Given the description of an element on the screen output the (x, y) to click on. 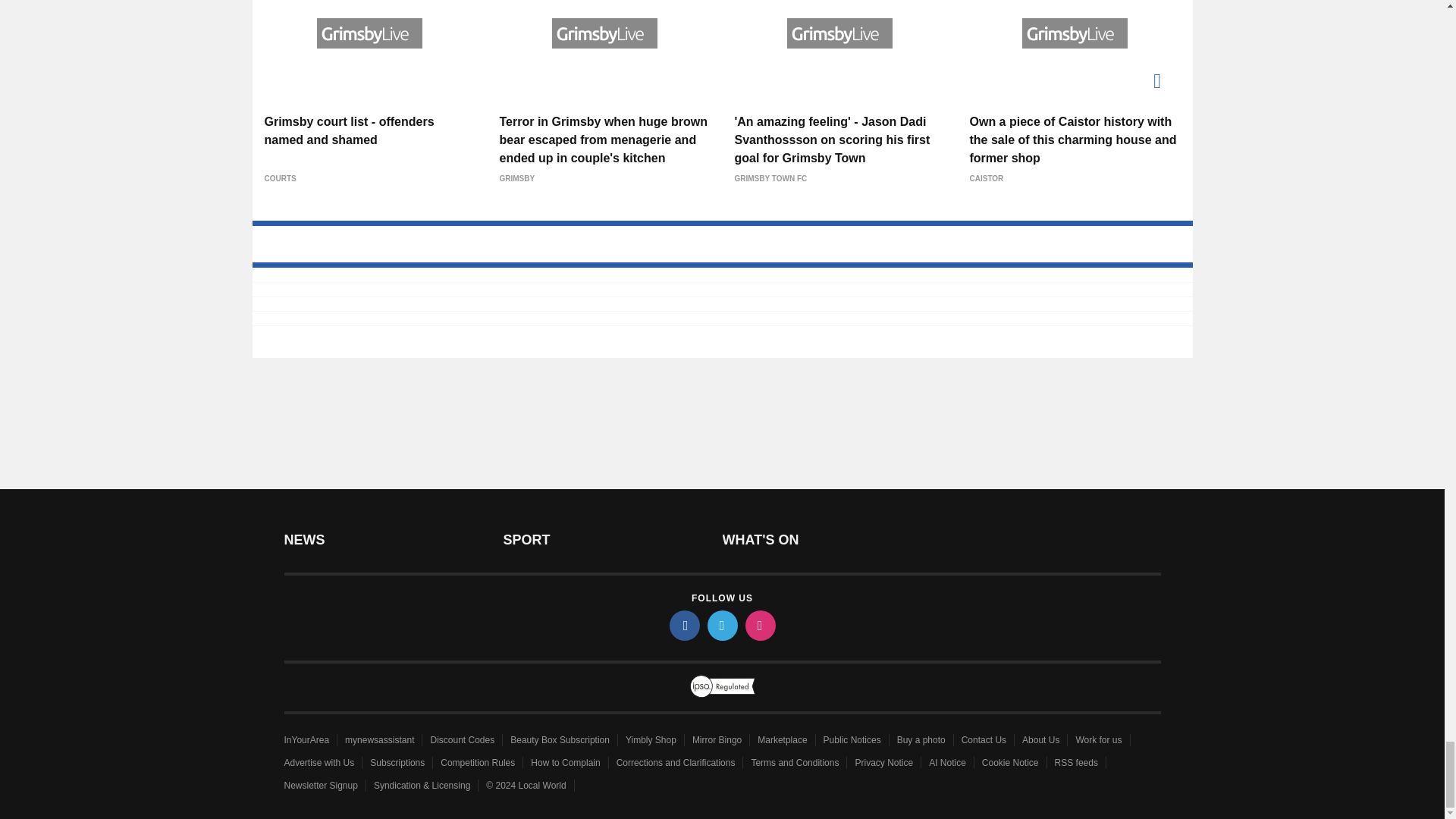
instagram (759, 625)
twitter (721, 625)
facebook (683, 625)
